Given the description of an element on the screen output the (x, y) to click on. 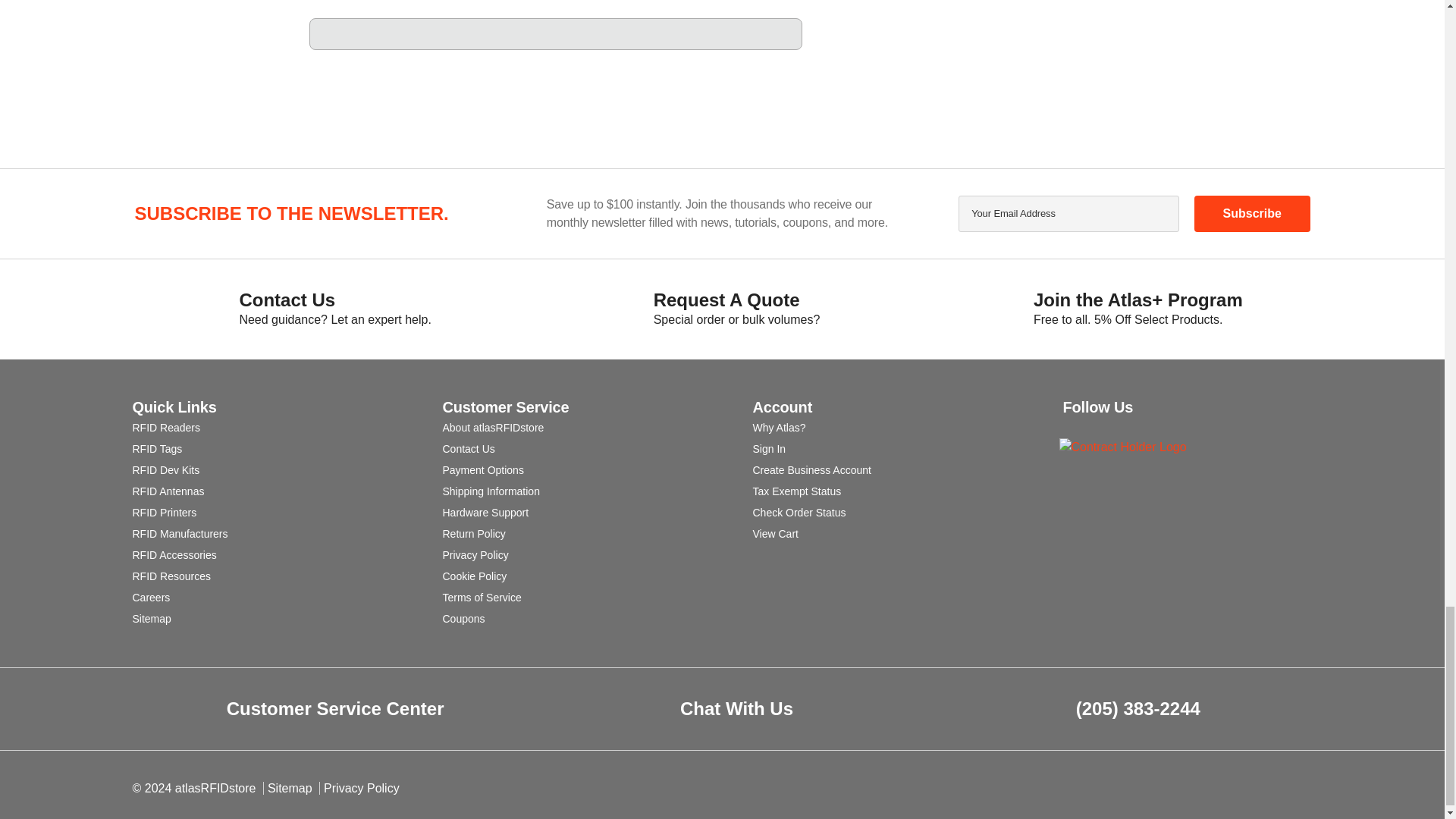
Linkedin (1098, 426)
Rss (1070, 426)
Facebook (1127, 426)
Twitter (1184, 426)
Youtube (1155, 426)
Subscribe (1250, 213)
